Given the description of an element on the screen output the (x, y) to click on. 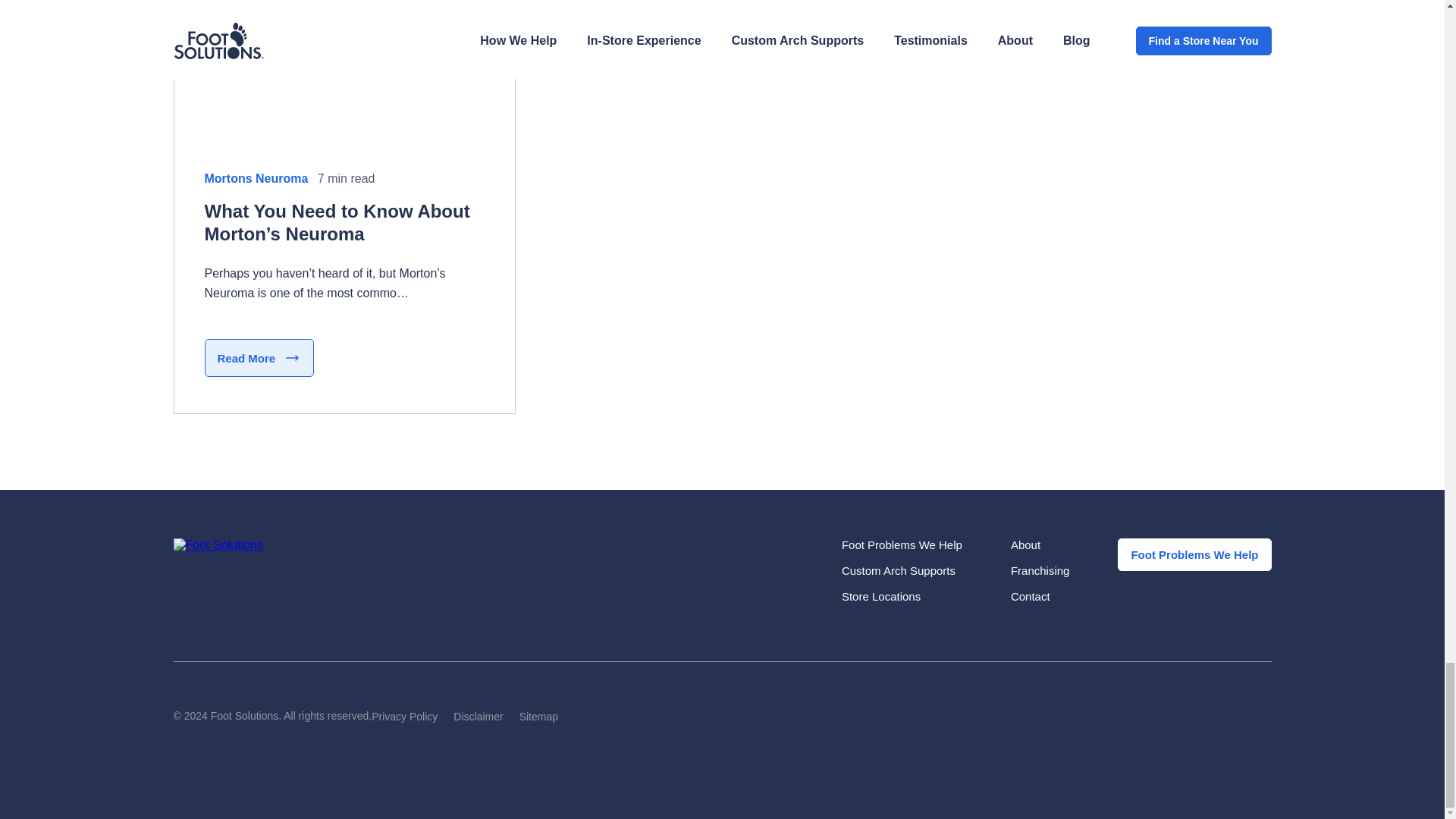
Privacy Policy (404, 716)
Sitemap (538, 716)
Store Locations (880, 595)
Disclaimer (477, 716)
Franchising (1040, 570)
Foot Problems We Help (1194, 554)
Custom Arch Supports (898, 570)
About (1025, 544)
Contact (1029, 595)
Foot Problems We Help (901, 544)
